Given the description of an element on the screen output the (x, y) to click on. 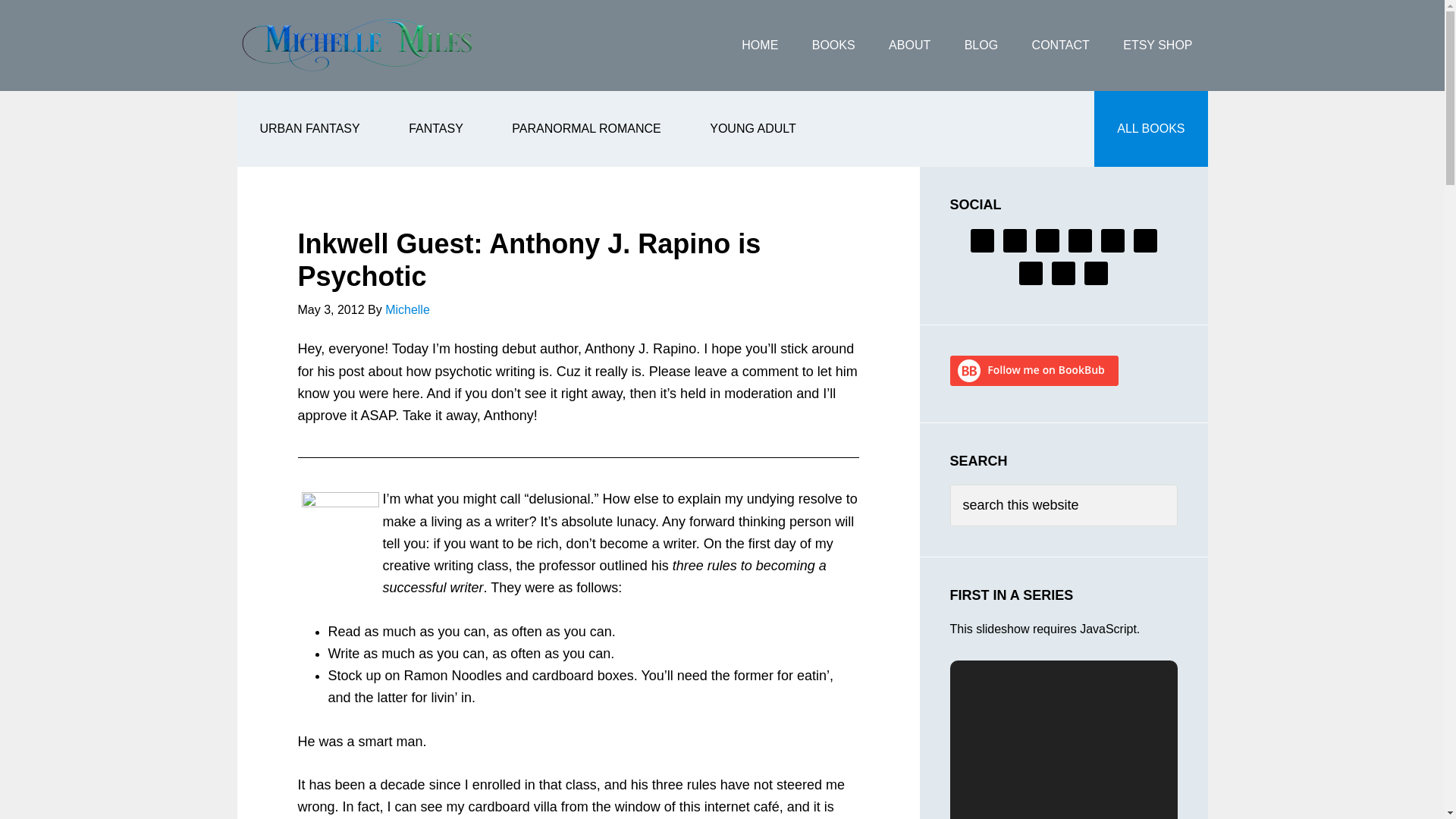
Michelle Miles Author (357, 45)
CONTACT (1060, 45)
ALL BOOKS (1150, 128)
FANTASY (435, 128)
URBAN FANTASY (308, 128)
YOUNG ADULT (752, 128)
ETSY SHOP (1157, 45)
